Given the description of an element on the screen output the (x, y) to click on. 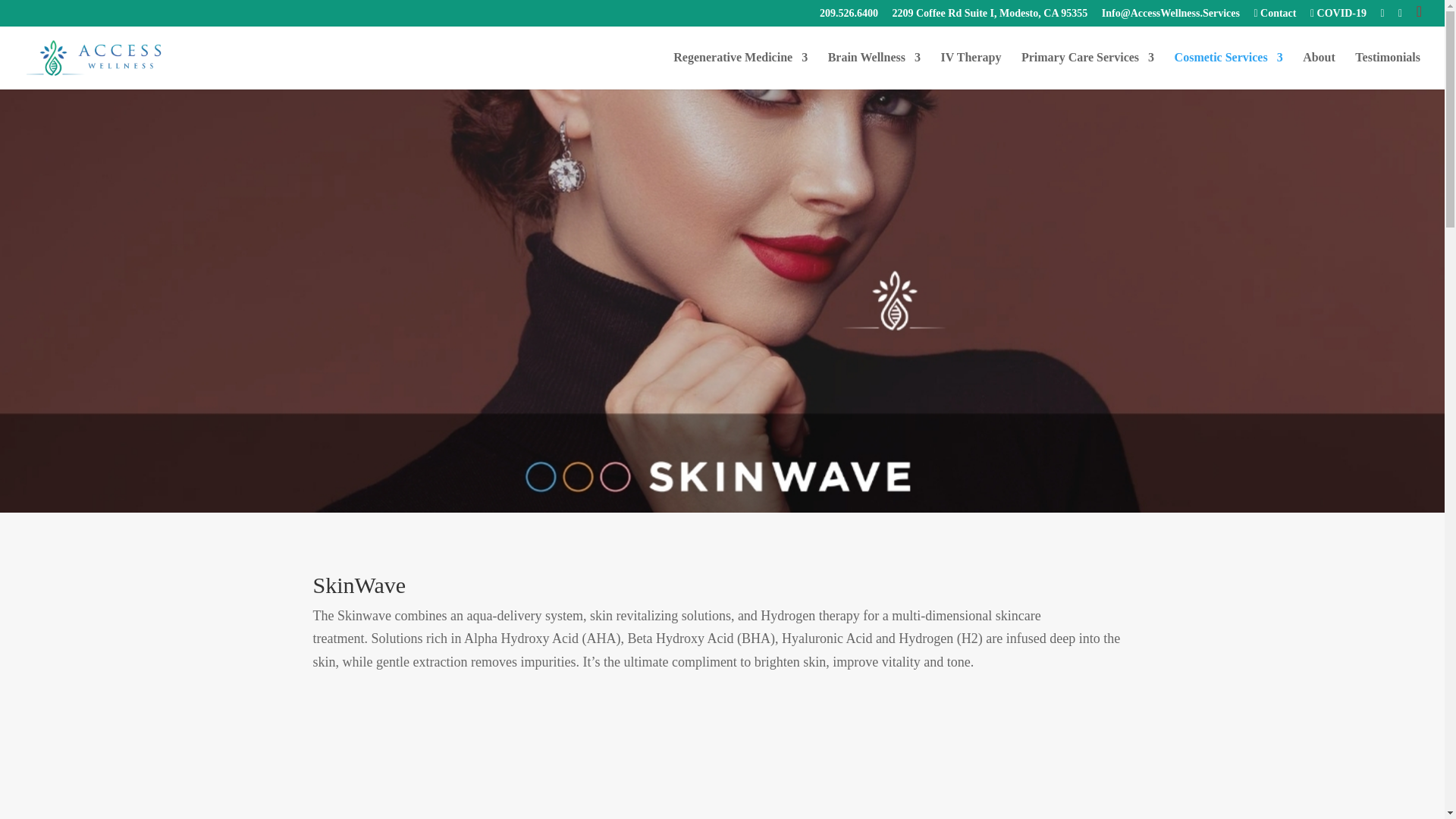
Primary Care Services (1088, 69)
Brain Wellness (874, 69)
209.526.6400 (848, 16)
2209 Coffee Rd Suite I, Modesto, CA 95355 (989, 16)
Contact (1274, 16)
COVID-19 (1338, 16)
Cosmetic Services (1228, 69)
Regenerative Medicine (740, 69)
Aqua Solution S1 Med Res V3 (722, 765)
IV Therapy (970, 69)
